Given the description of an element on the screen output the (x, y) to click on. 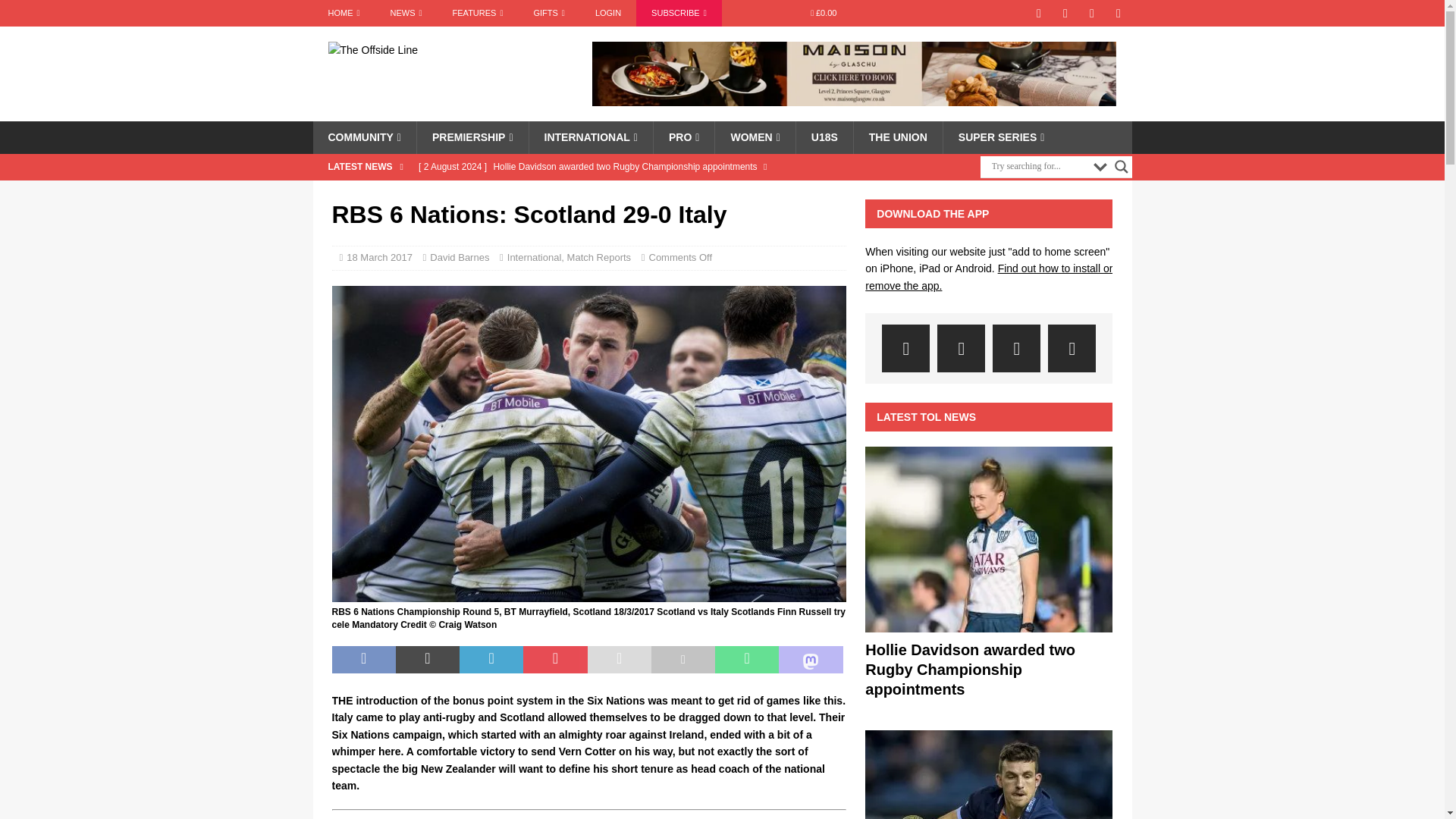
LOGIN (607, 13)
Rugby Gifts (548, 13)
Help us keep it covered this season (679, 13)
HOME (343, 13)
Community rugby in Scotland (363, 137)
NEWS (406, 13)
Scottish Rugby news coverage (343, 13)
Start shopping (822, 13)
COMMUNITY (363, 137)
PREMIERSHIP (472, 137)
Scottish rugby news (406, 13)
SUBSCRIBE (679, 13)
FEATURES (478, 13)
GIFTS (548, 13)
